Given the description of an element on the screen output the (x, y) to click on. 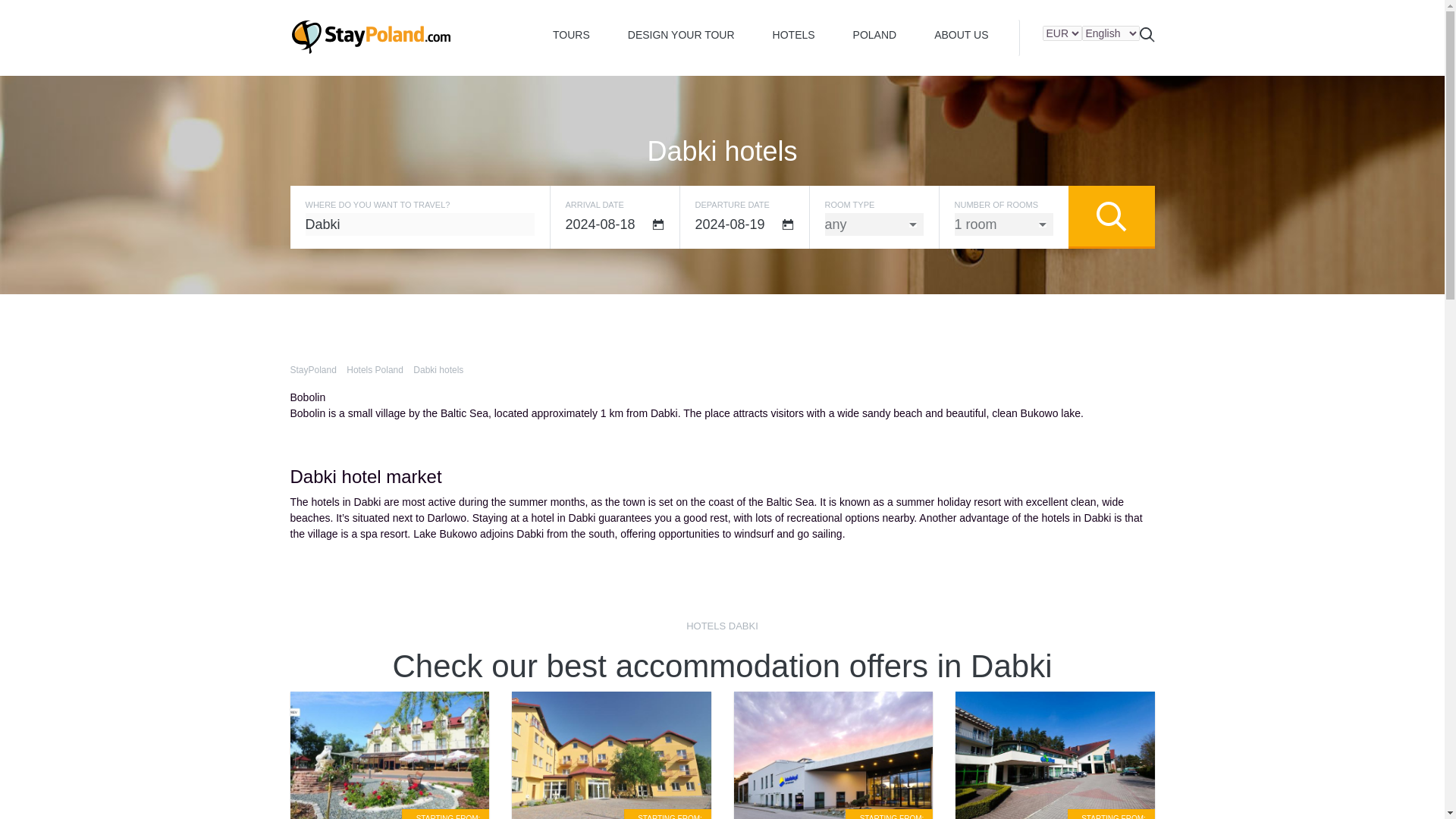
StayPoland (312, 369)
HOTELS (794, 34)
Dabki (419, 223)
DESIGN YOUR TOUR (680, 34)
POLAND (874, 34)
Hotels Poland (374, 369)
StayPoland (370, 36)
Dabki hotels (438, 369)
Search hotels (1110, 216)
2024-08-18 (614, 223)
